Given the description of an element on the screen output the (x, y) to click on. 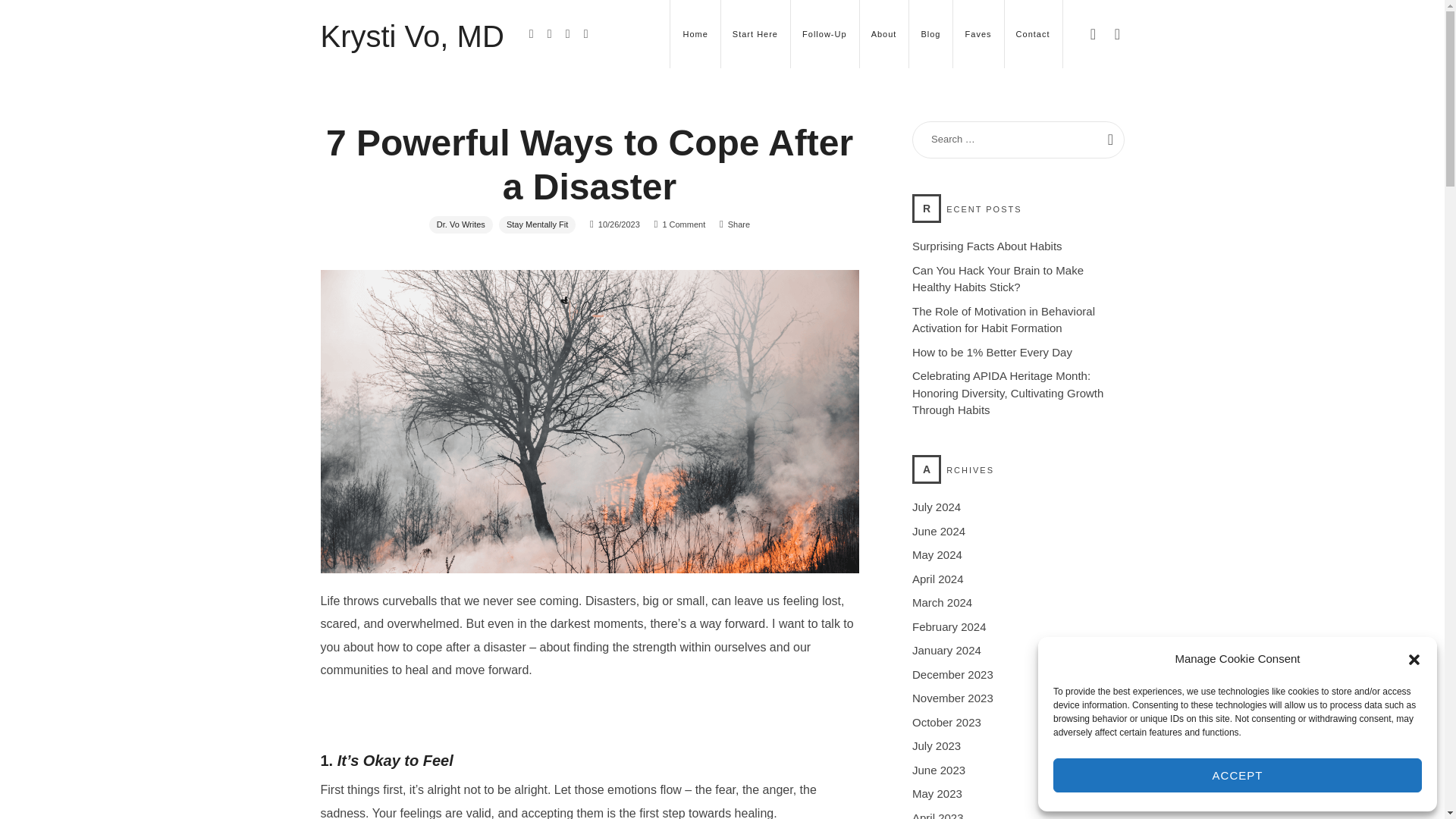
ACCEPT (1237, 775)
Start Here (755, 33)
Follow-Up (411, 33)
